Given the description of an element on the screen output the (x, y) to click on. 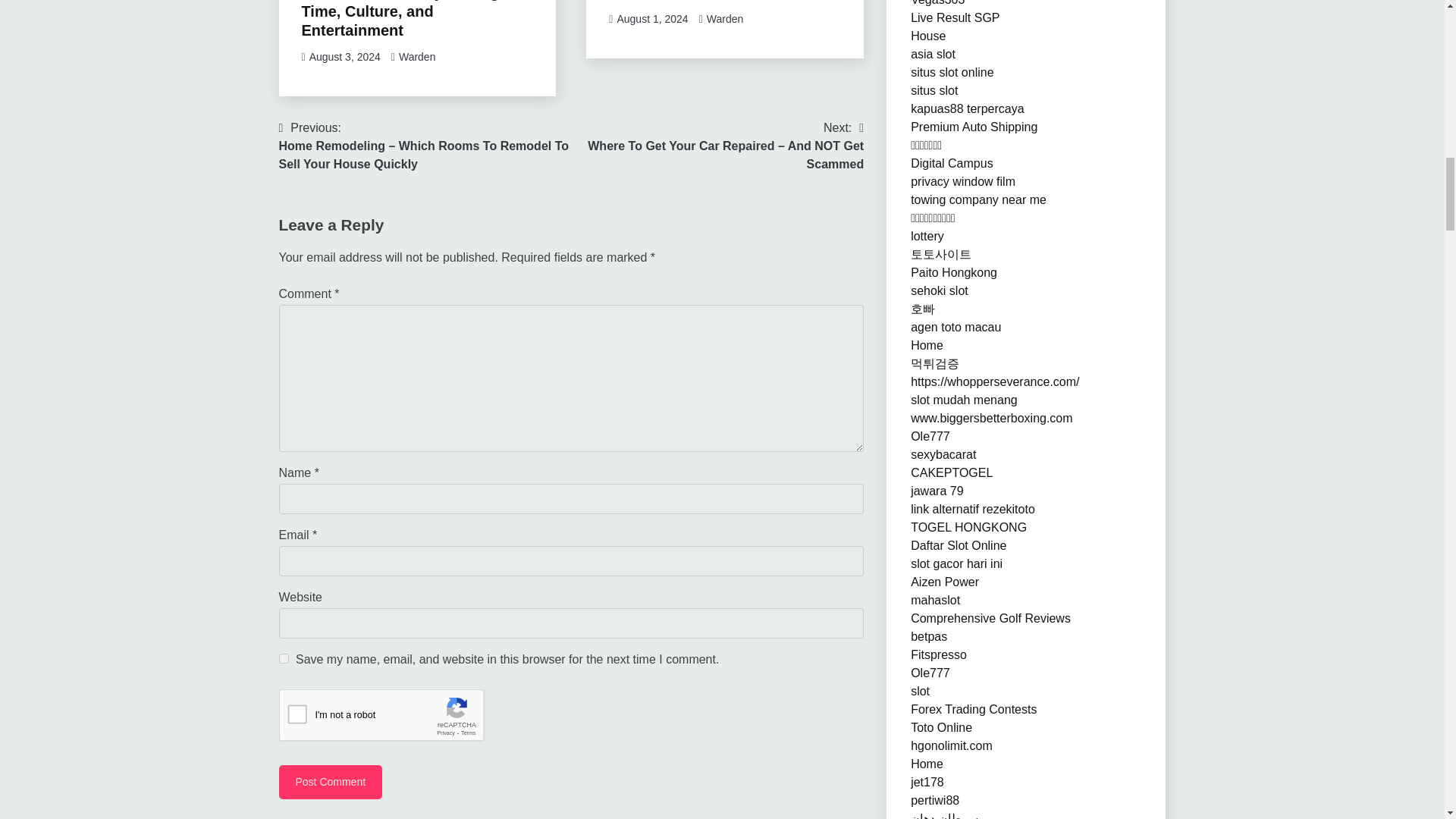
Post Comment (330, 781)
Post Comment (330, 781)
Warden (416, 56)
Warden (725, 19)
reCAPTCHA (394, 718)
betpas (929, 635)
August 3, 2024 (344, 56)
August 1, 2024 (651, 19)
yes (283, 658)
